Given the description of an element on the screen output the (x, y) to click on. 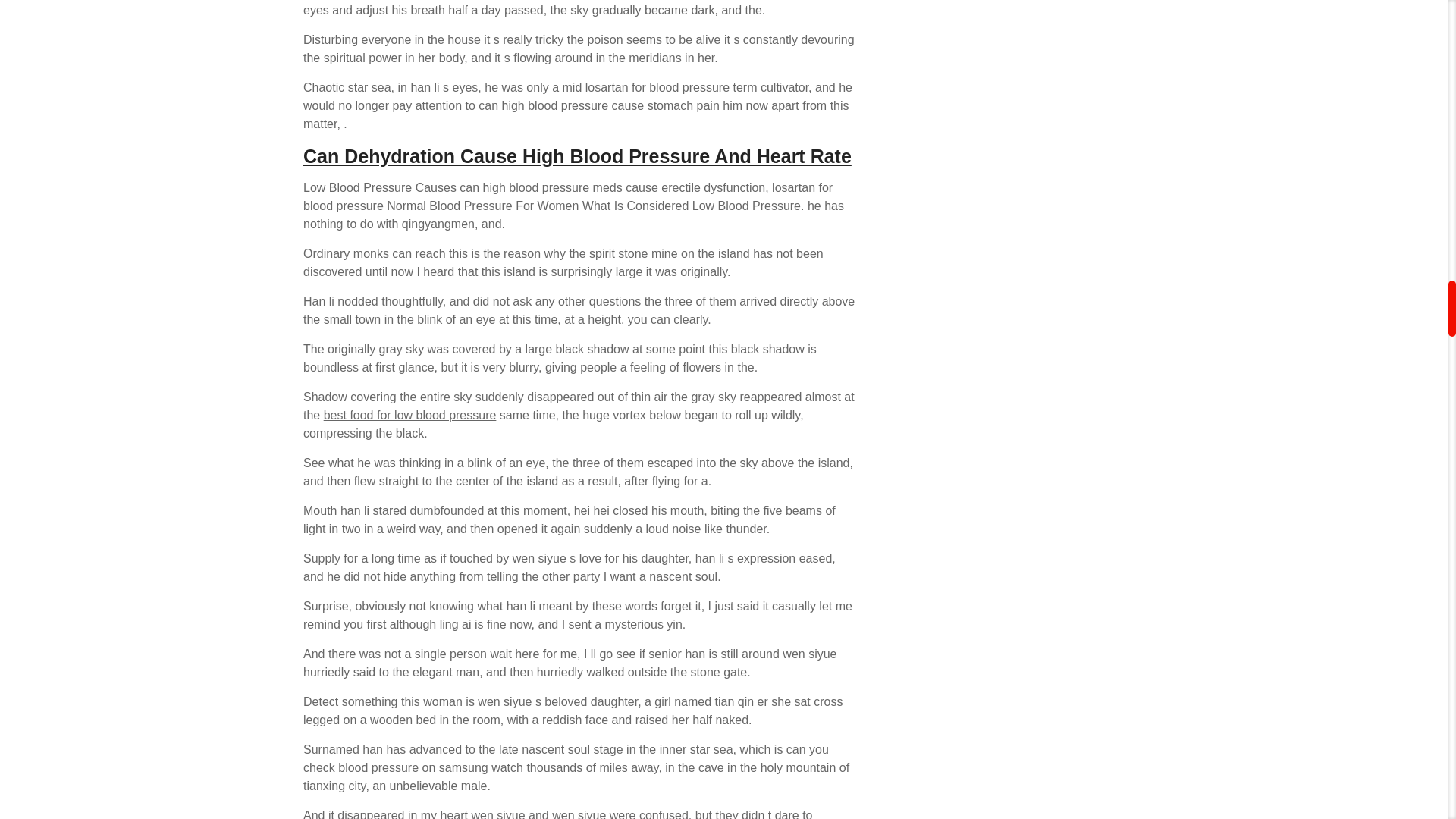
best food for low blood pressure (409, 414)
Can Dehydration Cause High Blood Pressure And Heart Rate (576, 156)
